Given the description of an element on the screen output the (x, y) to click on. 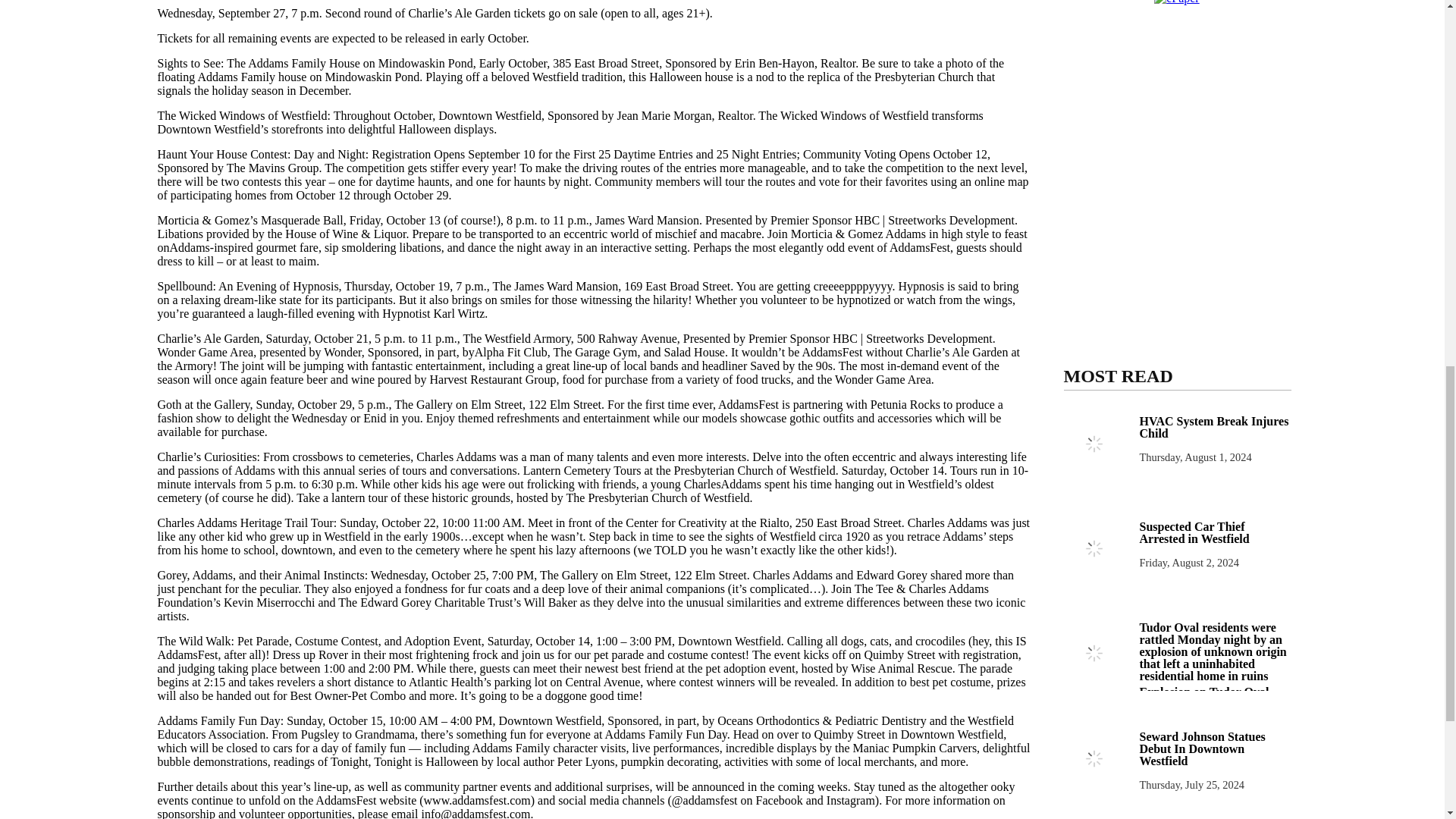
ePaper (1176, 2)
